Given the description of an element on the screen output the (x, y) to click on. 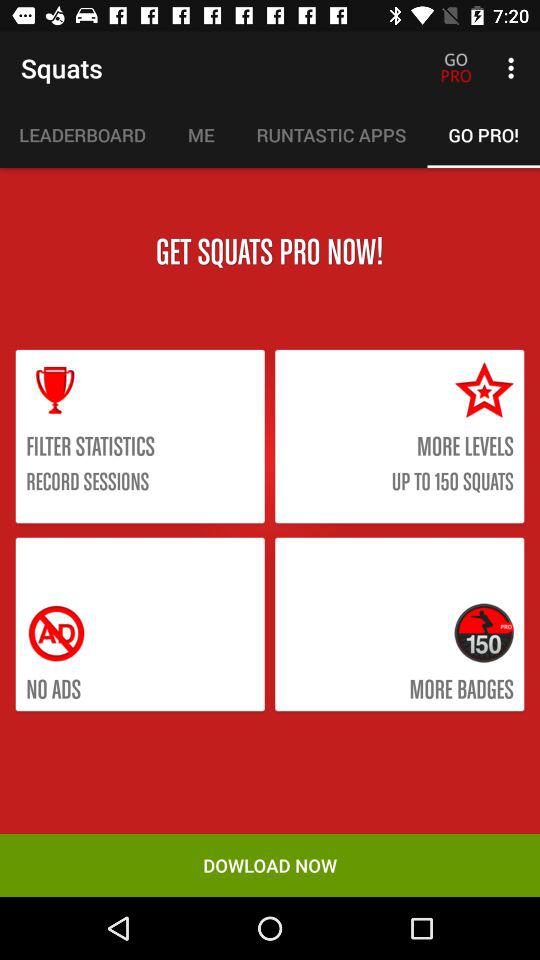
choose the icon below the squats (83, 135)
